Given the description of an element on the screen output the (x, y) to click on. 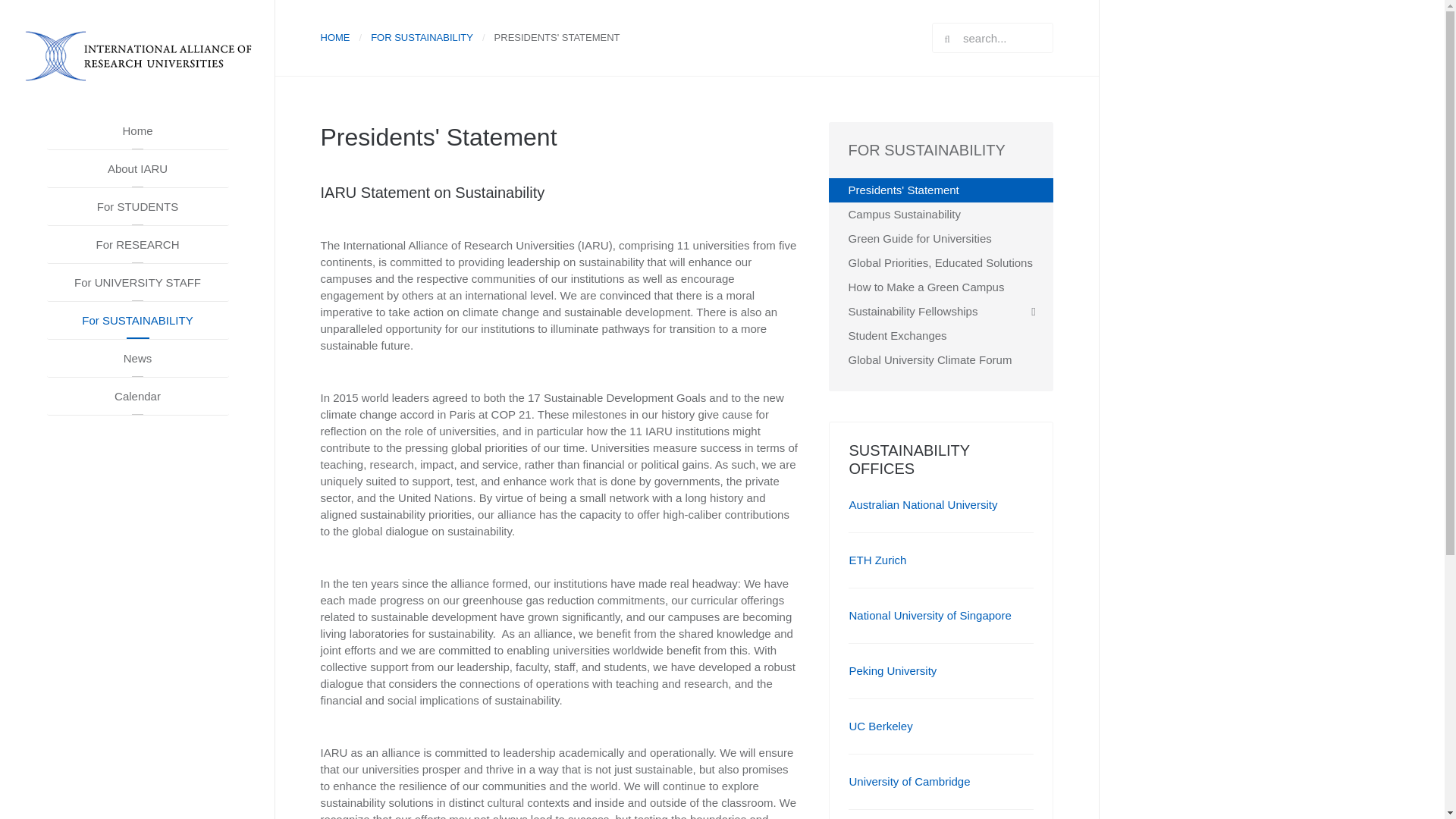
For UNIVERSITY STAFF (137, 282)
Home (137, 130)
About IARU (137, 168)
For RESEARCH (137, 244)
For SUSTAINABILITY (137, 320)
For STUDENTS (137, 207)
